Given the description of an element on the screen output the (x, y) to click on. 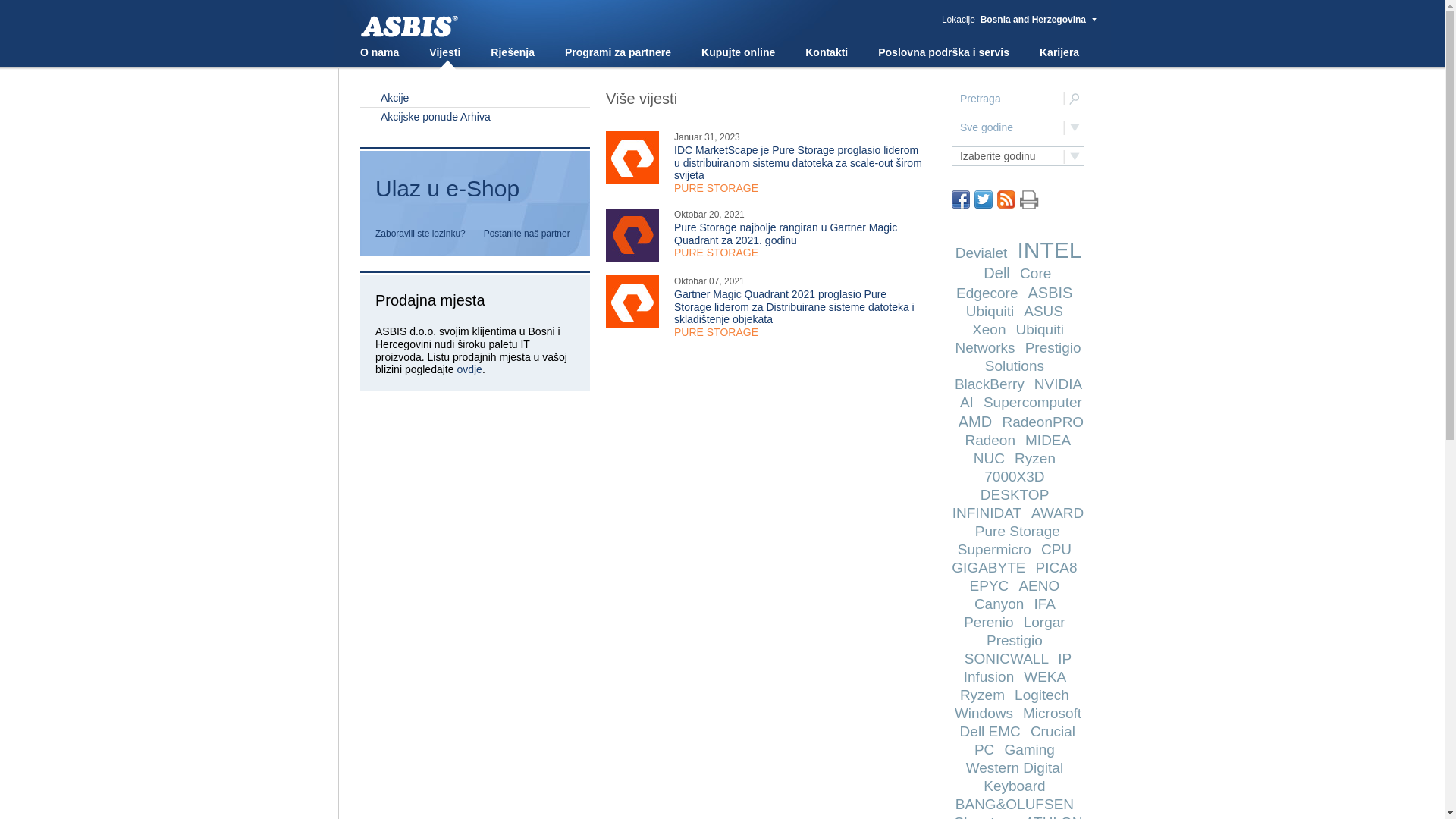
NUC Element type: text (988, 458)
Ryzem Element type: text (982, 694)
PURE STORAGE Element type: text (716, 252)
Microsoft Element type: text (1051, 713)
Dell EMC Element type: text (990, 731)
O nama Element type: text (379, 52)
AWARD Element type: text (1057, 512)
ASBIS Home Element type: hover (408, 26)
Prestigio Element type: text (1014, 640)
Supermicro Element type: text (994, 549)
ovdje Element type: text (468, 369)
Devialet Element type: text (981, 252)
BlackBerry Element type: text (989, 384)
AI Element type: text (966, 402)
Pure Storage Element type: text (1017, 531)
Crucial Element type: text (1052, 731)
ASBIS Element type: text (1050, 292)
Ulaz u e-Shop Element type: text (474, 188)
Akcije Element type: text (474, 96)
Western Digital Element type: text (1014, 767)
Logitech Element type: text (1041, 694)
IP Infusion Element type: text (1017, 667)
DESKTOP Element type: text (1014, 494)
Kupujte online Element type: text (738, 52)
Windows Element type: text (983, 713)
Supercomputer Element type: text (1032, 402)
BANG&OLUFSEN Element type: text (1014, 804)
Karijera Element type: text (1059, 52)
Keyboard Element type: text (1013, 785)
EPYC Element type: text (989, 585)
Ulaz u e-Shop Element type: text (474, 194)
PC Element type: text (984, 749)
Canyon Element type: text (999, 603)
PURE STORAGE Element type: text (716, 188)
INFINIDAT Element type: text (986, 512)
Vijesti Element type: text (444, 52)
Akcijske ponude Arhiva Element type: text (474, 115)
Lorgar Element type: text (1044, 622)
Zaboravili ste lozinku? Element type: text (420, 233)
7000X3D Element type: text (1014, 476)
NVIDIA Element type: text (1057, 384)
INTEL Element type: text (1048, 249)
WEKA Element type: text (1044, 676)
IFA Element type: text (1043, 603)
Ryzen Element type: text (1034, 458)
Lokacije  Bosnia and Herzegovina Element type: text (1019, 19)
SONICWALL Element type: text (1006, 658)
Perenio Element type: text (988, 622)
Prestigio Solutions Element type: text (1033, 356)
Gaming Element type: text (1029, 749)
AENO Element type: text (1038, 585)
Programi za partnere Element type: text (617, 52)
MIDEA Element type: text (1047, 440)
Ubiquiti Networks Element type: text (1008, 338)
Ubiquiti Element type: text (989, 311)
Radeon Element type: text (989, 440)
CPU Element type: text (1056, 549)
PURE STORAGE Element type: text (716, 332)
PICA8 Element type: text (1056, 567)
Xeon Element type: text (988, 329)
Dell Element type: text (996, 272)
Edgecore Element type: text (986, 293)
RadeonPRO Element type: text (1042, 421)
ASUS Element type: text (1043, 311)
Kontakti Element type: text (826, 52)
AMD Element type: text (974, 421)
GIGABYTE Element type: text (988, 567)
Core Element type: text (1035, 273)
